Given the description of an element on the screen output the (x, y) to click on. 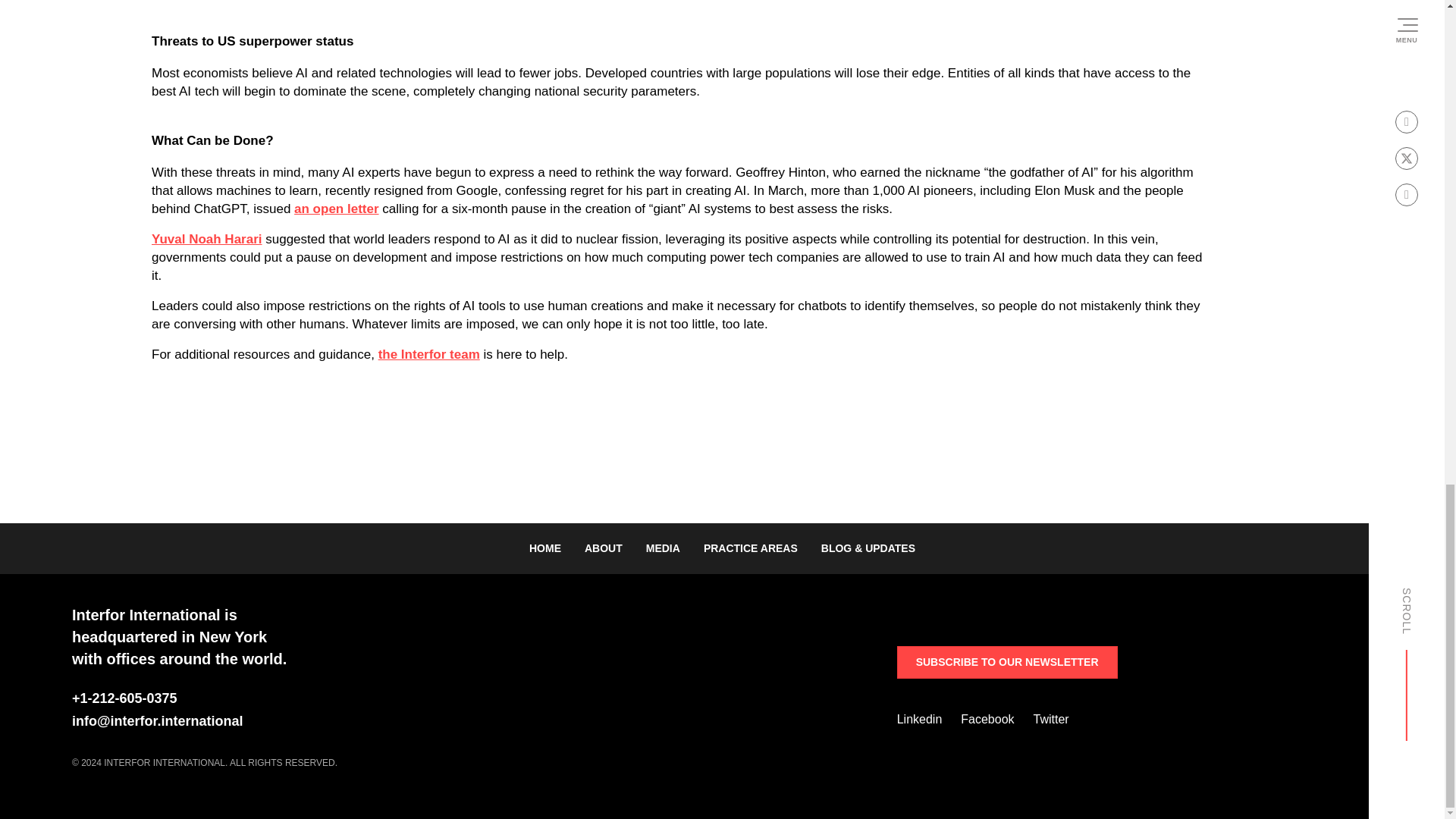
the Interfor team (429, 358)
an open letter (336, 225)
Yuval Noah Harari (206, 248)
